Given the description of an element on the screen output the (x, y) to click on. 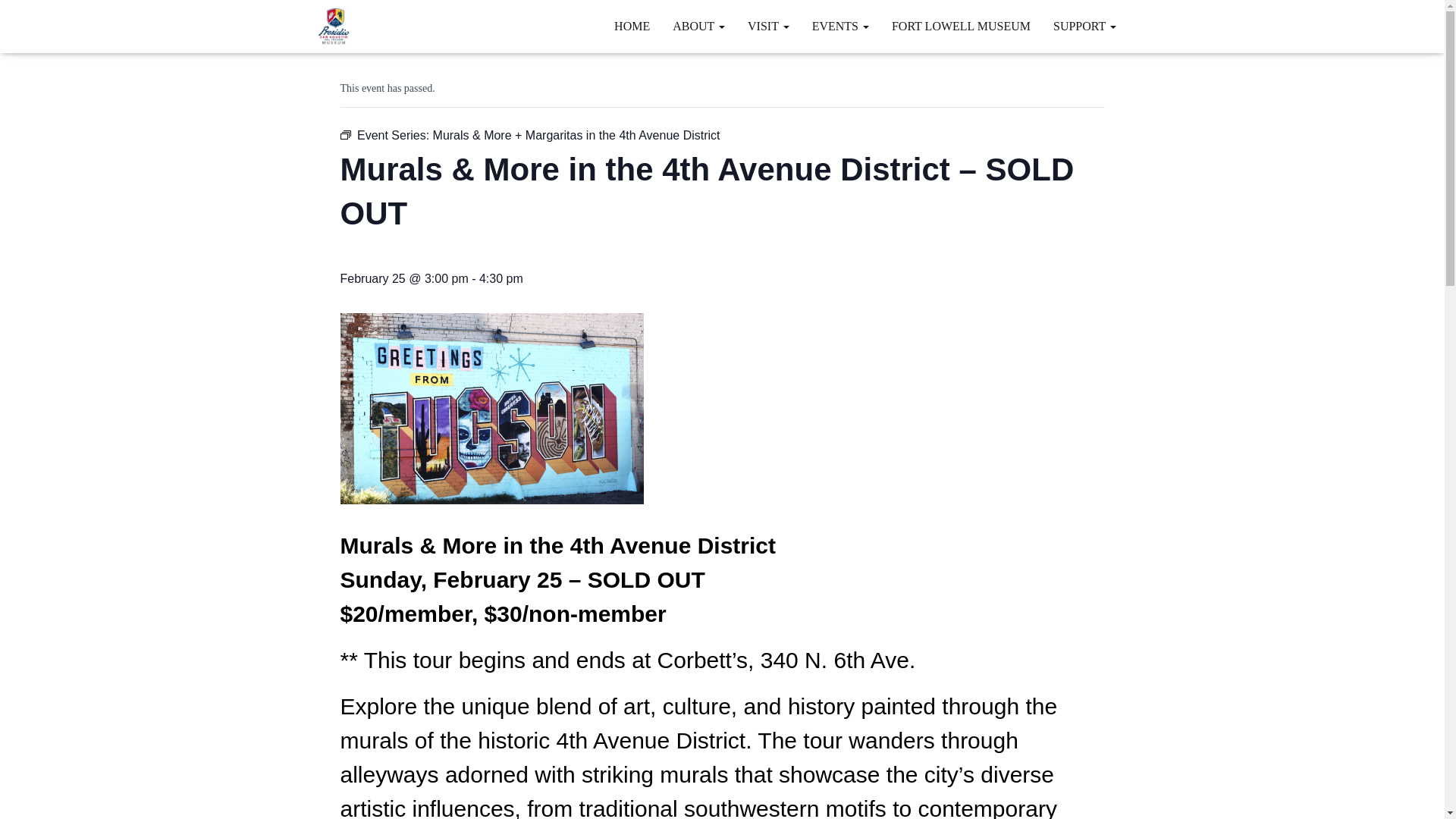
ABOUT (698, 26)
About (698, 26)
EVENTS (840, 26)
VISIT (768, 26)
Event Series (344, 134)
HOME (631, 26)
HOME (631, 26)
Presidio San Agustin del Tucson (333, 26)
